Given the description of an element on the screen output the (x, y) to click on. 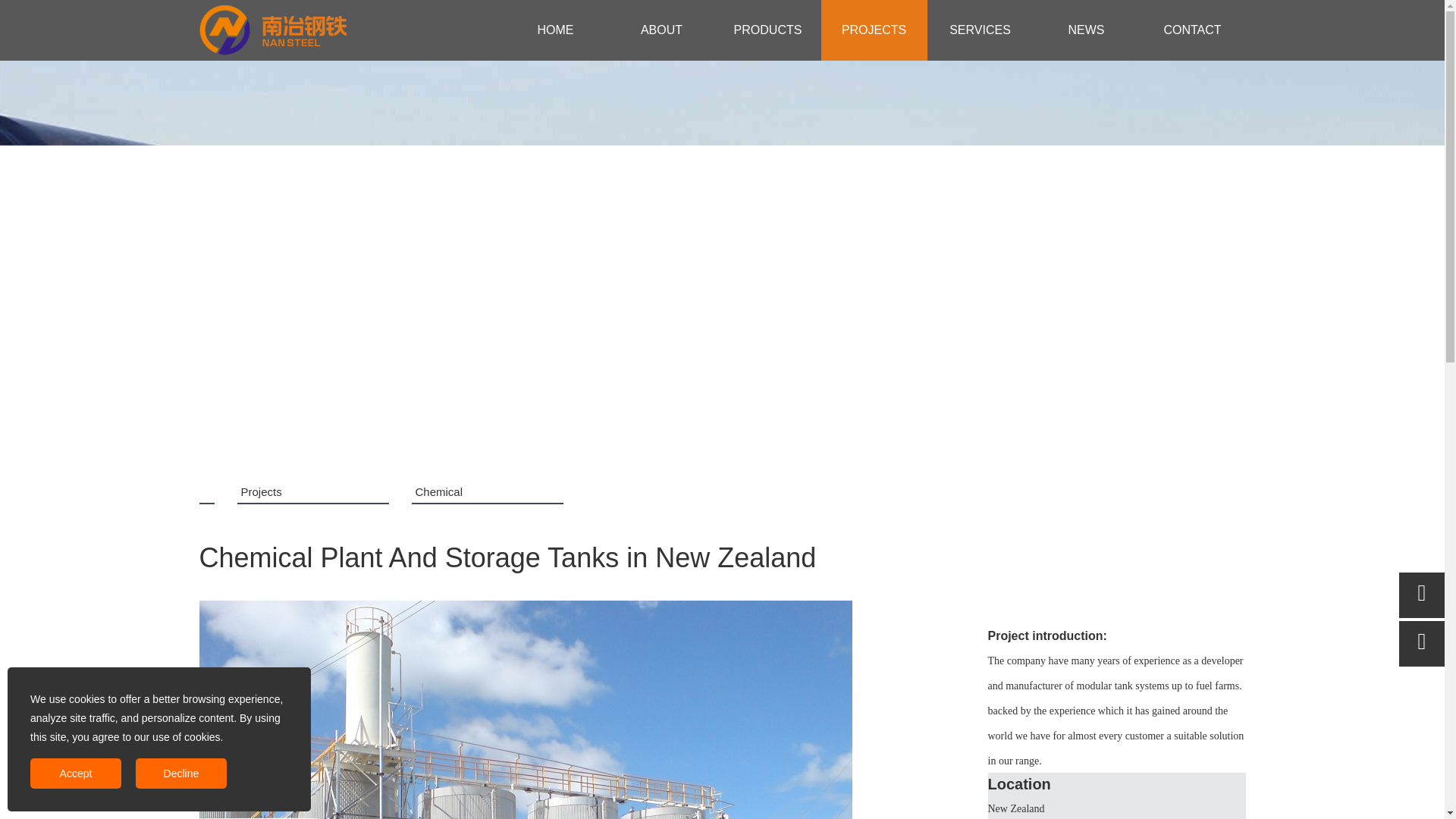
HOME (555, 30)
ABOUT (661, 30)
PRODUCTS (767, 30)
